Given the description of an element on the screen output the (x, y) to click on. 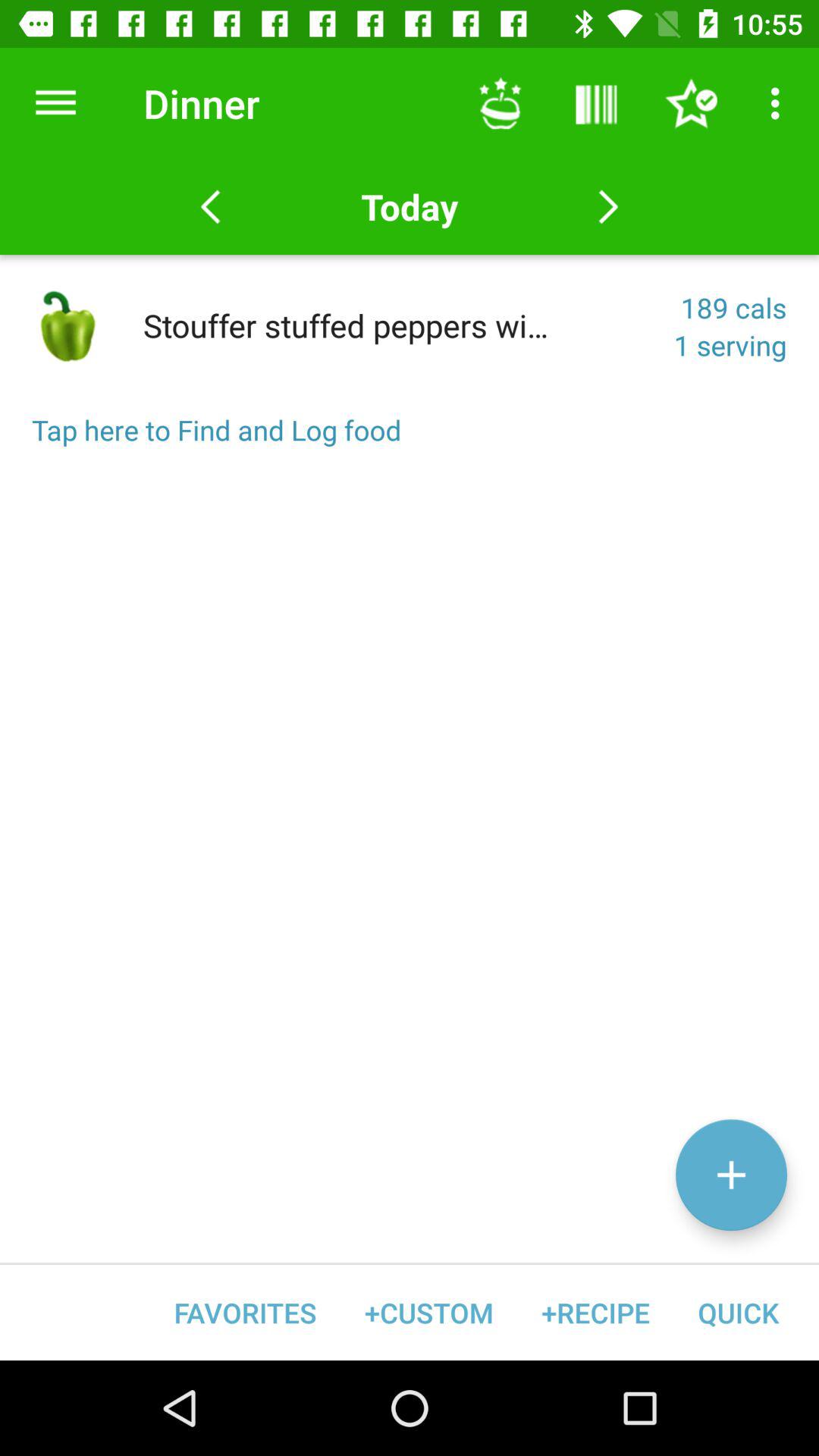
launch favorites item (245, 1312)
